Given the description of an element on the screen output the (x, y) to click on. 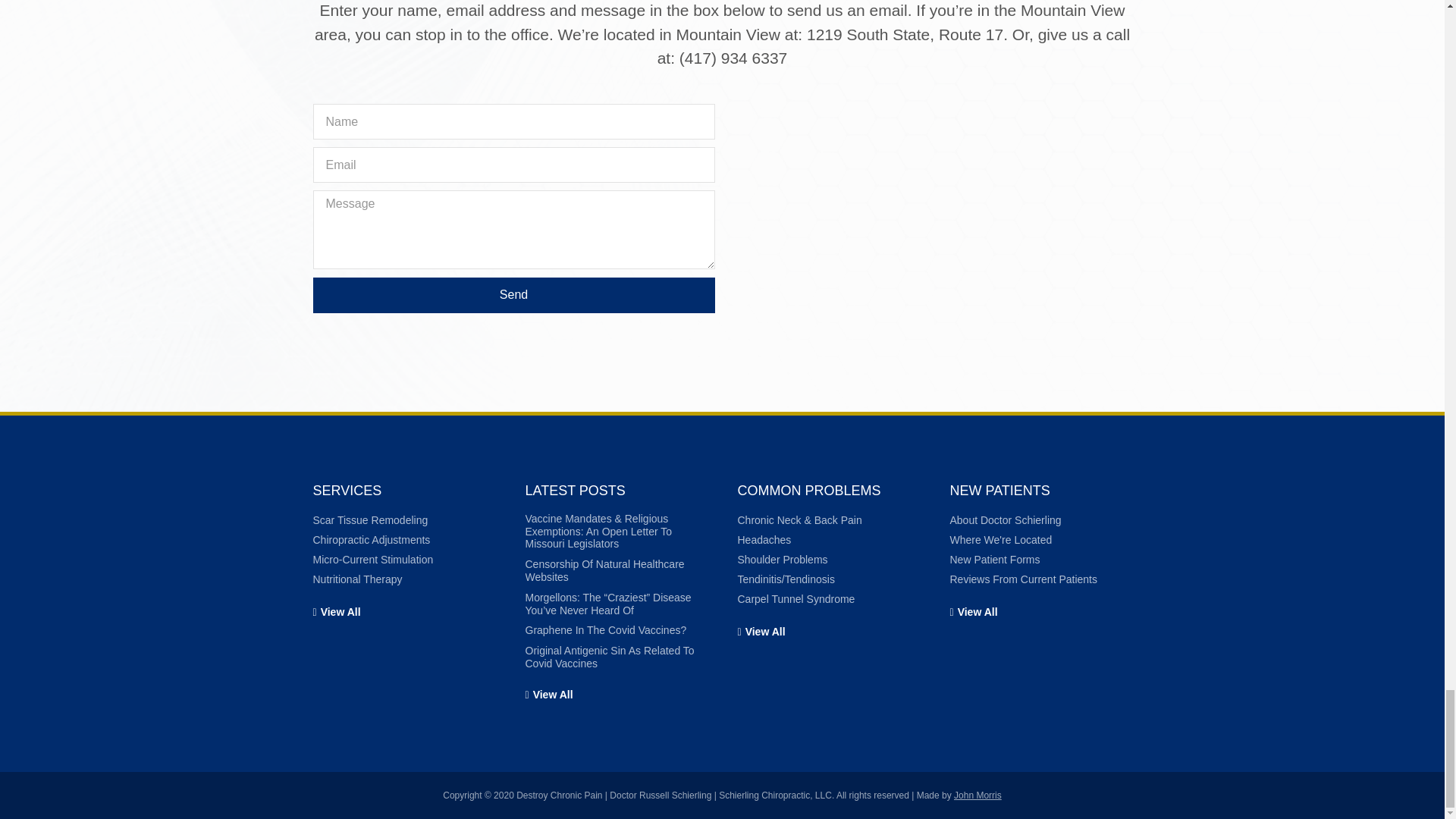
Schierling Chiropractic, Mountain View, MO (930, 208)
